Given the description of an element on the screen output the (x, y) to click on. 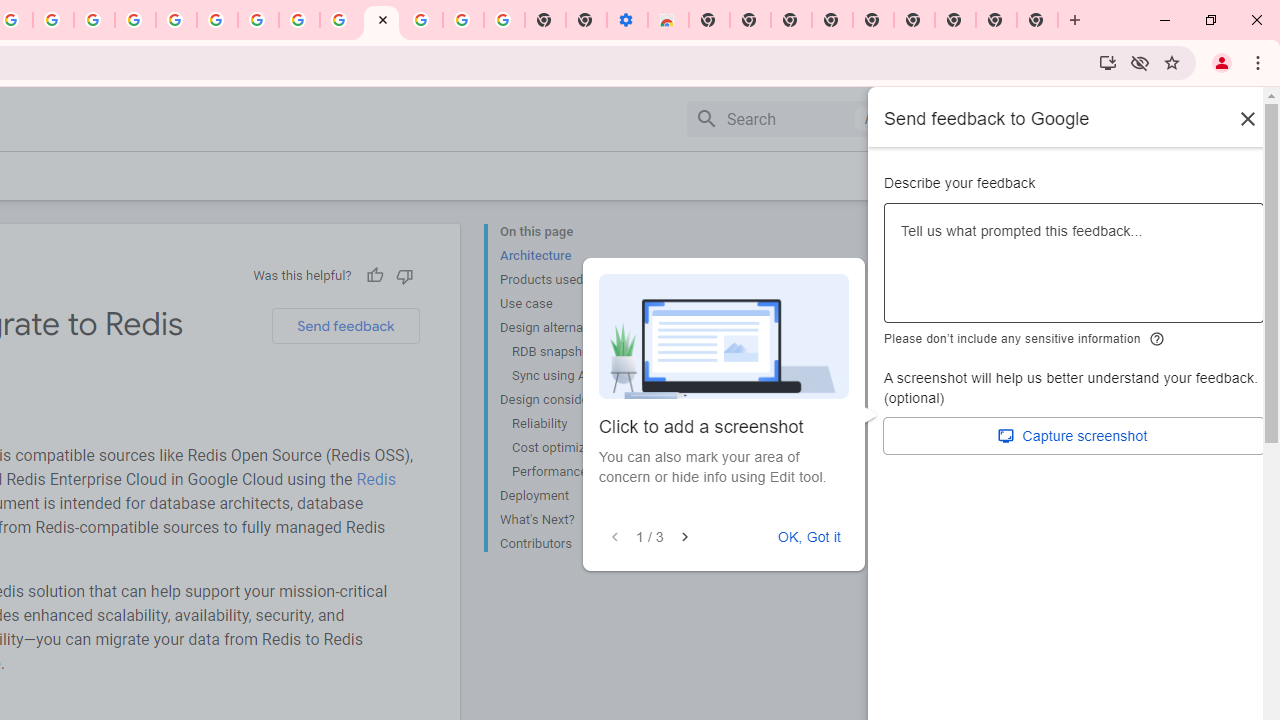
Start free (1182, 175)
What's Next? (580, 520)
Not helpful (404, 275)
Cost optimization (585, 448)
Performance (585, 471)
Google Account Help (462, 20)
Architecture (580, 255)
Create your Google Account (299, 20)
